Given the description of an element on the screen output the (x, y) to click on. 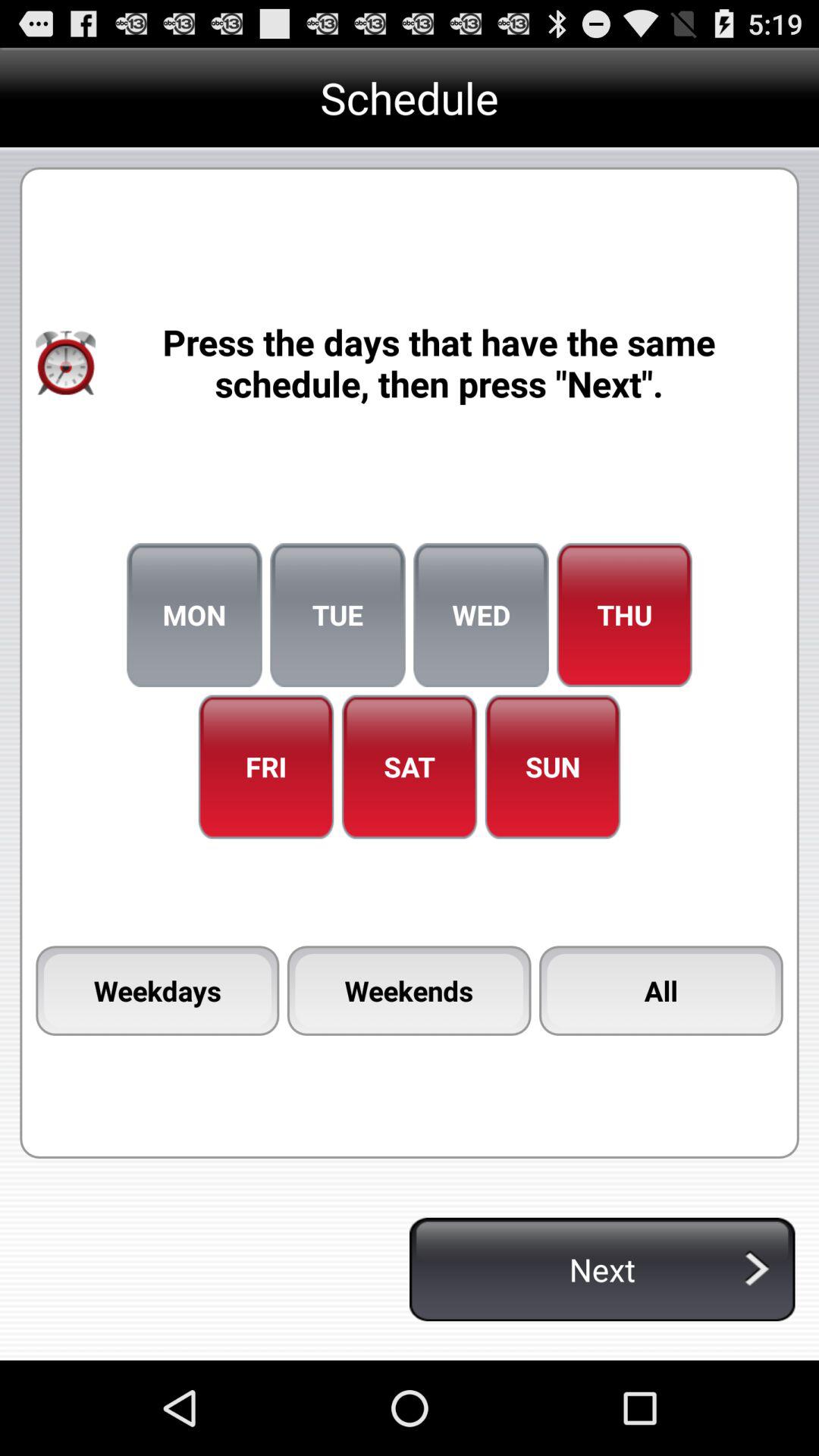
click the icon below the press the days (337, 615)
